Given the description of an element on the screen output the (x, y) to click on. 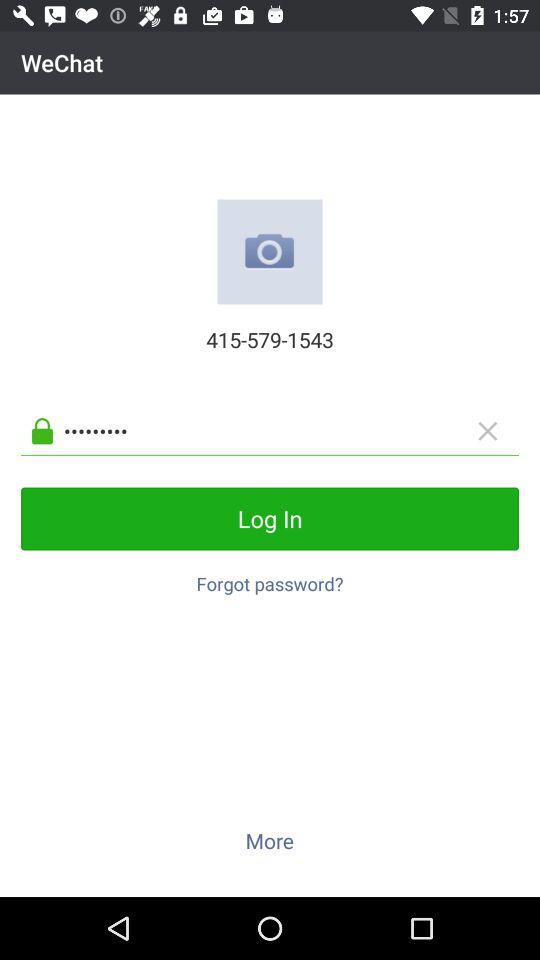
turn on the item below the forgot password? item (269, 840)
